Given the description of an element on the screen output the (x, y) to click on. 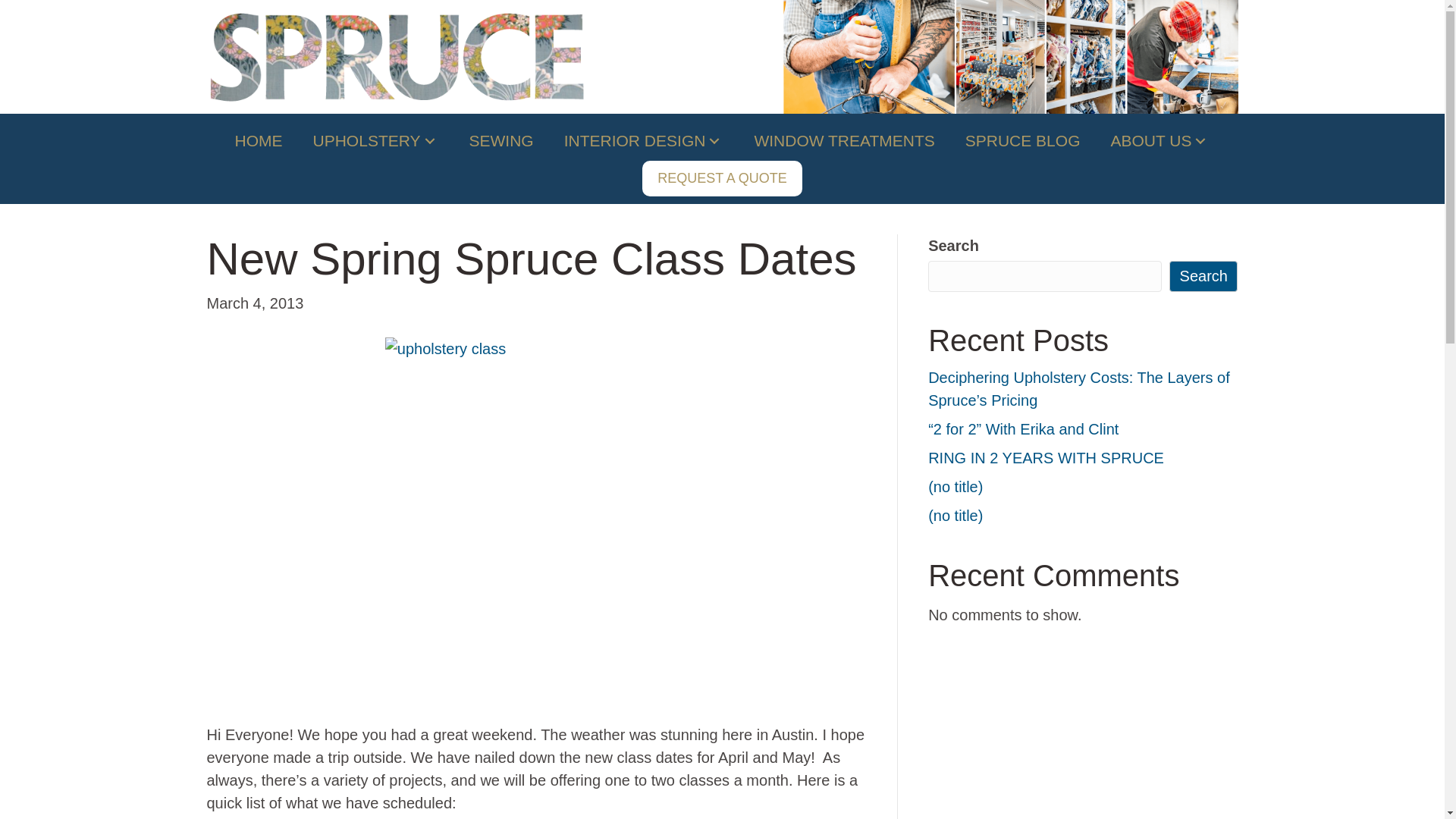
spruce-logo (395, 57)
Screen-Shot-2023-05-18-at-3.45.25-PM (1010, 56)
HOME (258, 140)
REQUEST A QUOTE (722, 178)
INTERIOR DESIGN (644, 140)
UPHOLSTERY (375, 140)
SEWING (501, 140)
Search (1203, 276)
WINDOW TREATMENTS (843, 140)
SPRUCE BLOG (1022, 140)
ABOUT US (1159, 140)
